Given the description of an element on the screen output the (x, y) to click on. 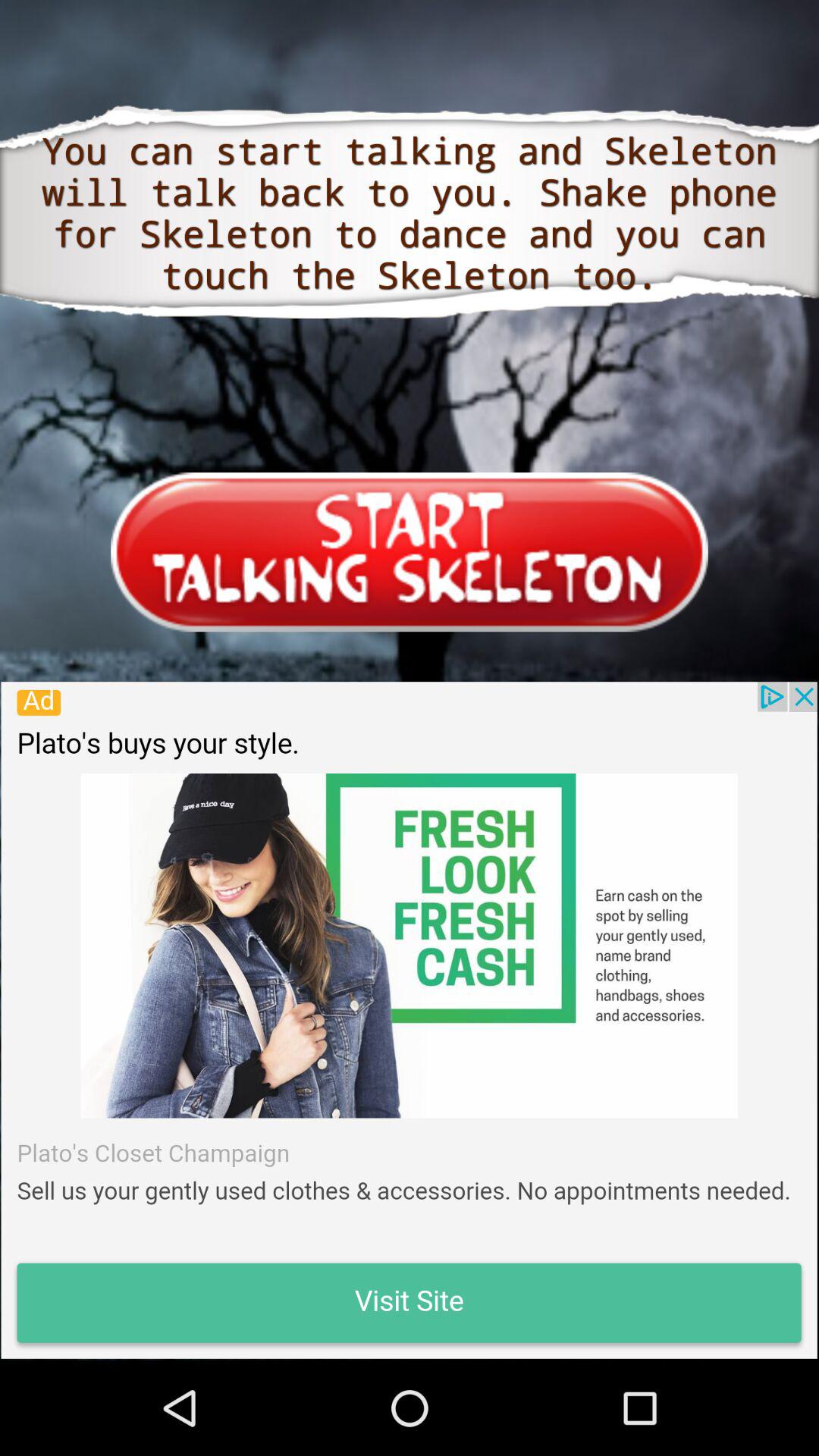
go to fresh look advertisement (409, 1019)
